Given the description of an element on the screen output the (x, y) to click on. 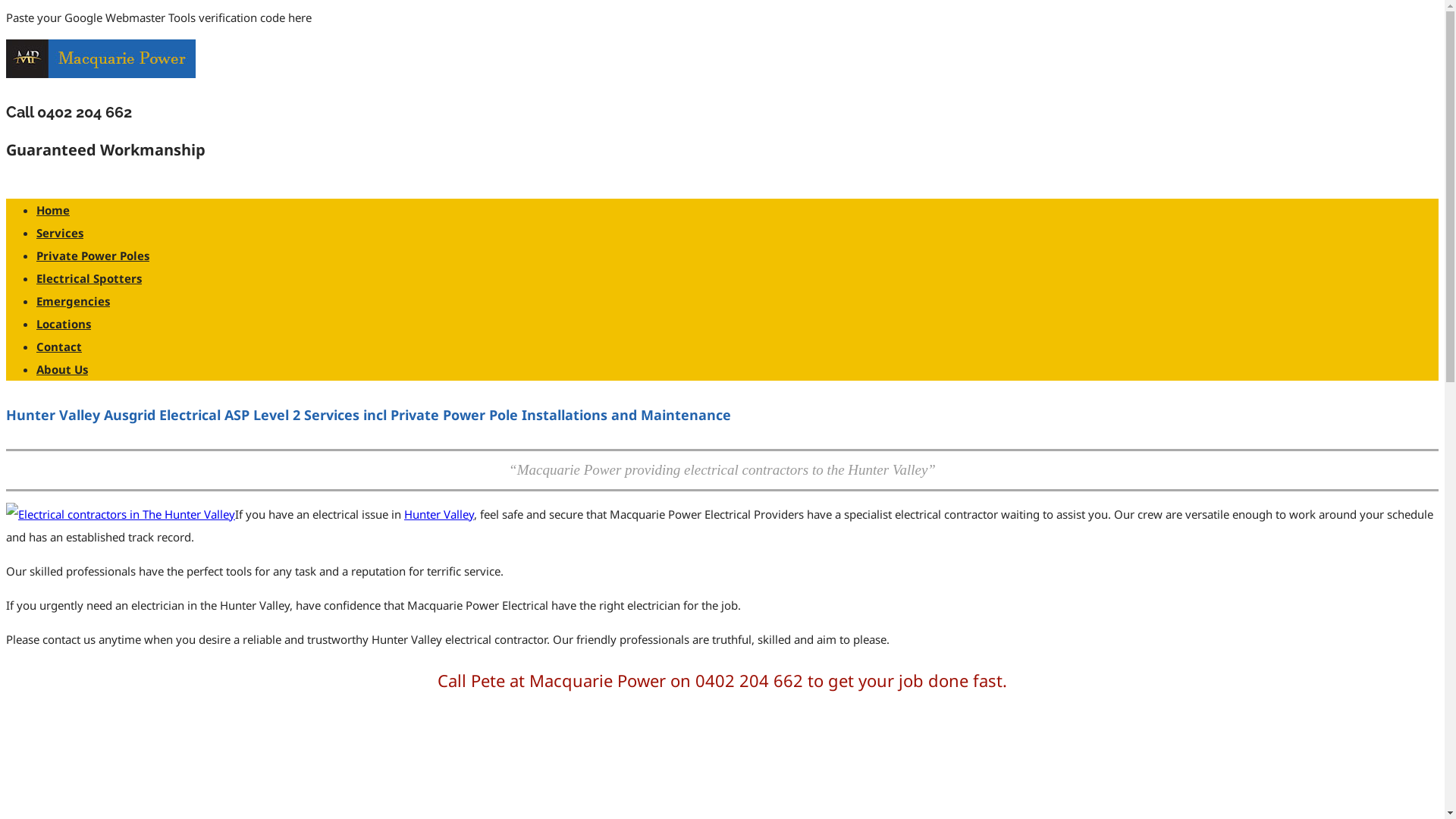
Private Power Poles Element type: text (92, 255)
Emergencies Element type: text (72, 300)
Contact Element type: text (58, 346)
Electrical Spotters Element type: text (88, 277)
Home Element type: text (52, 209)
Services Element type: text (59, 232)
Locations Element type: text (63, 323)
Hunter Valley Element type: text (438, 513)
About Us Element type: text (61, 368)
